Given the description of an element on the screen output the (x, y) to click on. 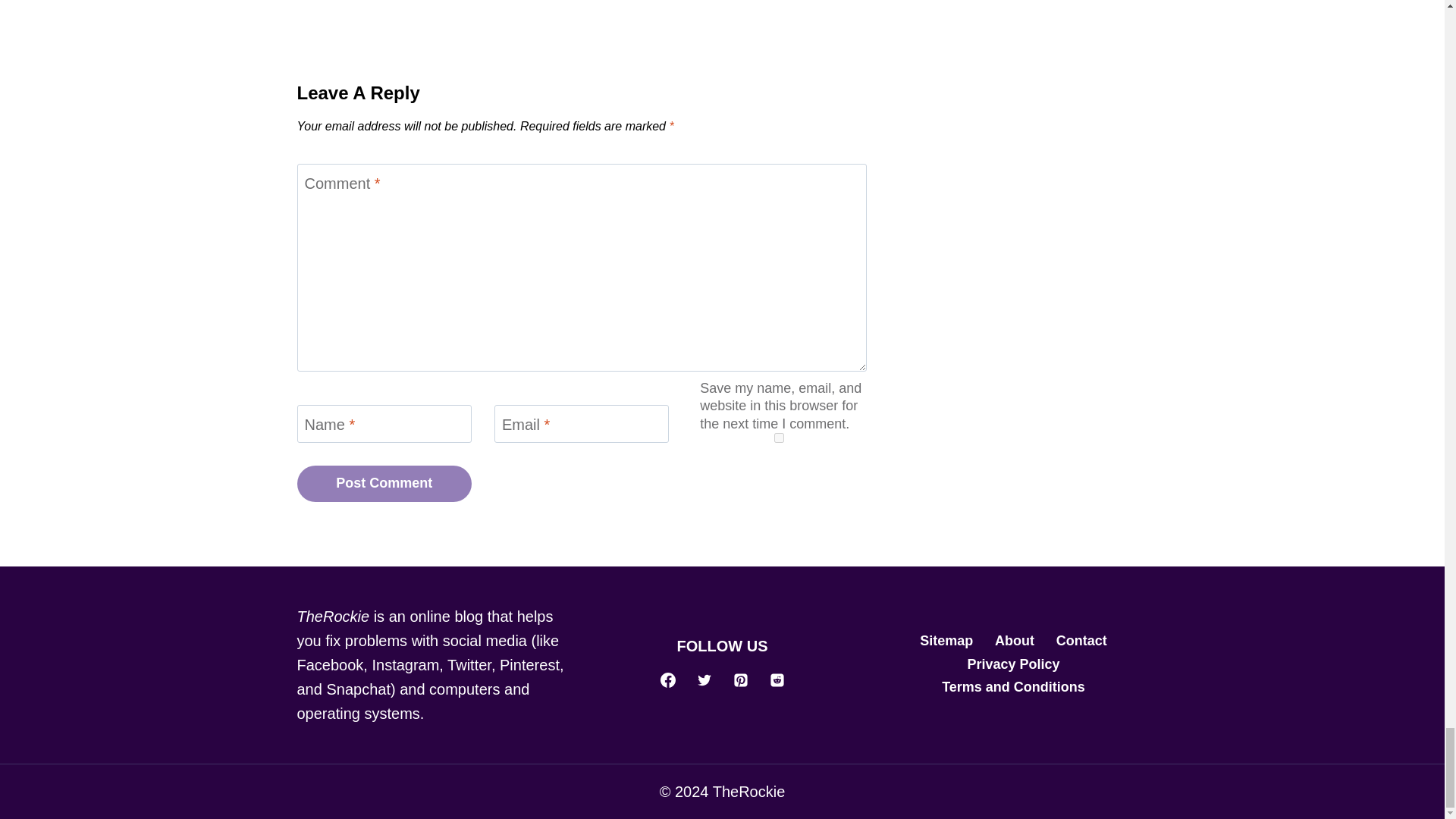
yes (778, 438)
Post Comment (384, 484)
